Given the description of an element on the screen output the (x, y) to click on. 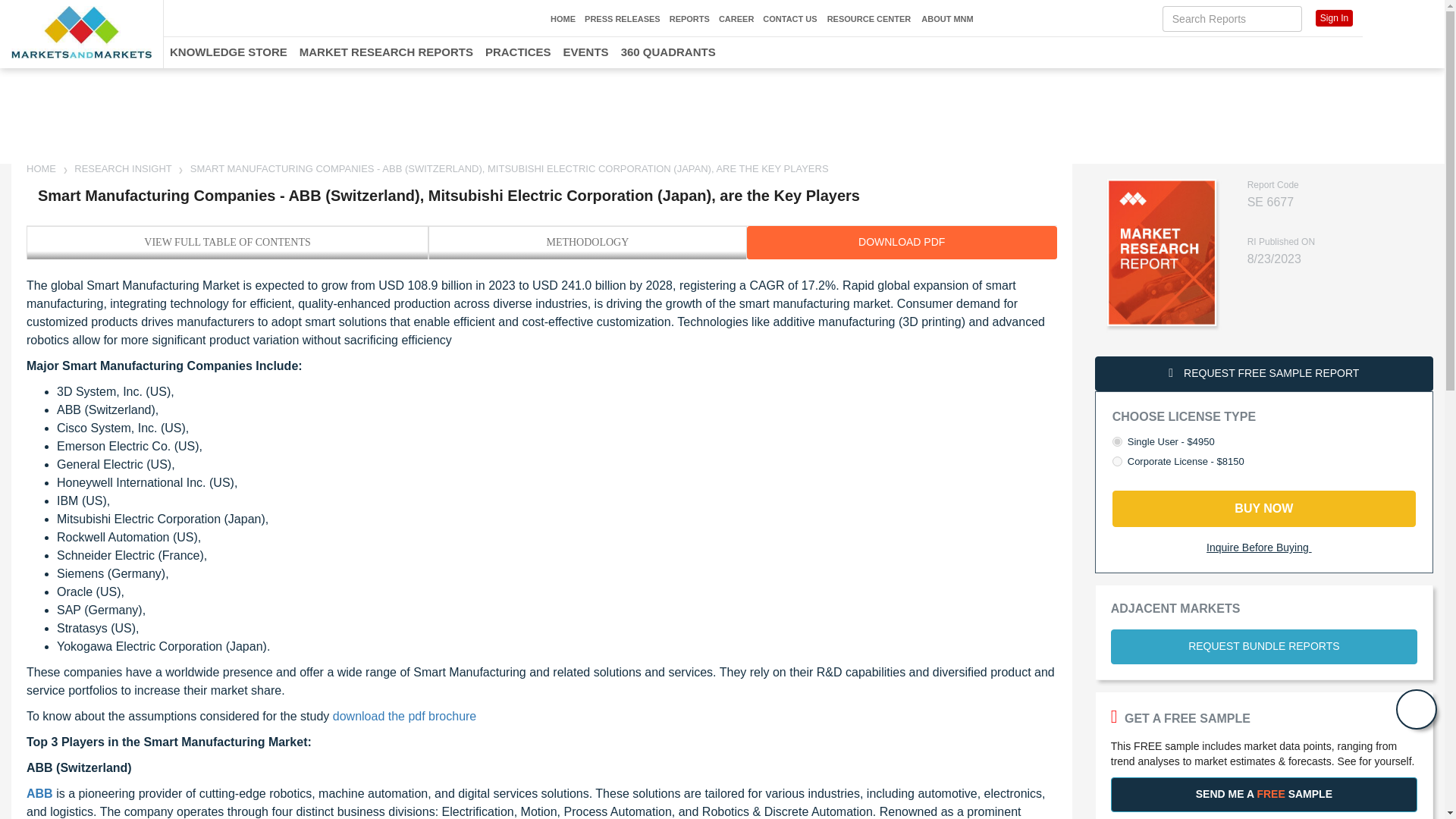
download the pdf brochure (404, 716)
PRESS RELEASES (623, 18)
DOWNLOAD PDF (901, 242)
CONTACT US (789, 18)
BUY NOW (1263, 508)
KNOW MORE (1130, 122)
REQUEST FREE SAMPLE REPORT (1263, 373)
on (1117, 461)
View Full TABLE OF Contents (227, 242)
CAREER (736, 18)
HOME (562, 18)
Sign In (1334, 17)
Research Insight (122, 168)
Inquire Before Buying (1264, 548)
ABB (39, 793)
